Given the description of an element on the screen output the (x, y) to click on. 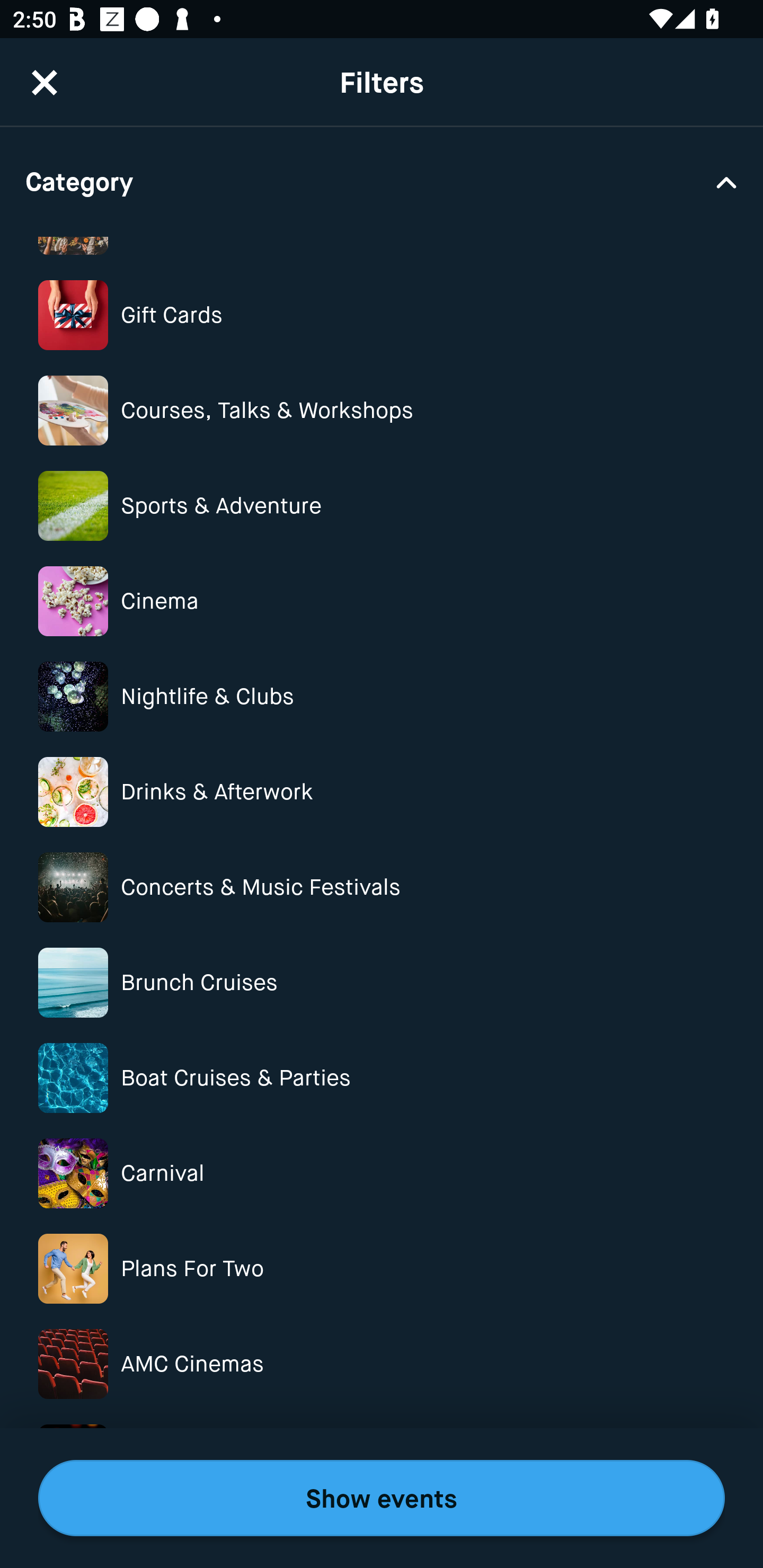
Category Drop Down Arrow (381, 181)
Category Image Gift Cards (381, 314)
Category Image Courses, Talks & Workshops (381, 410)
Category Image Sports & Adventure (381, 505)
Category Image Cinema (381, 600)
Category Image Nightlife & Clubs (381, 696)
Category Image Drinks & Afterwork (381, 791)
Category Image Concerts & Music Festivals (381, 887)
Category Image Brunch Cruises (381, 981)
Category Image Boat Cruises & Parties (381, 1077)
Category Image Carnival (381, 1173)
Category Image Plans For Two (381, 1268)
Category Image AMC Cinemas (381, 1363)
Show events (381, 1497)
